Given the description of an element on the screen output the (x, y) to click on. 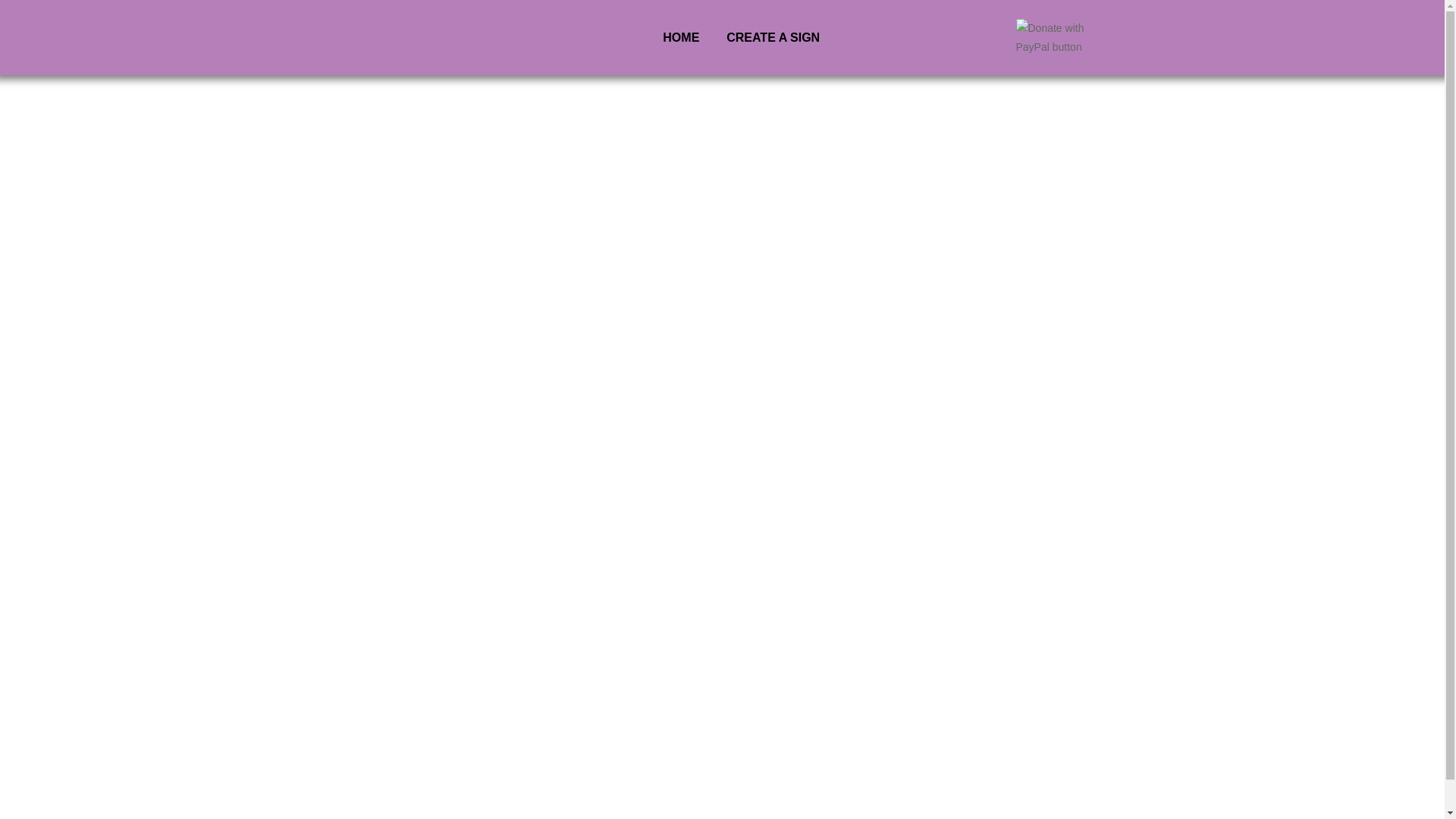
PayPal - The safer, easier way to pay online! (1063, 37)
CREATE A SIGN (772, 37)
HOME (680, 37)
